Given the description of an element on the screen output the (x, y) to click on. 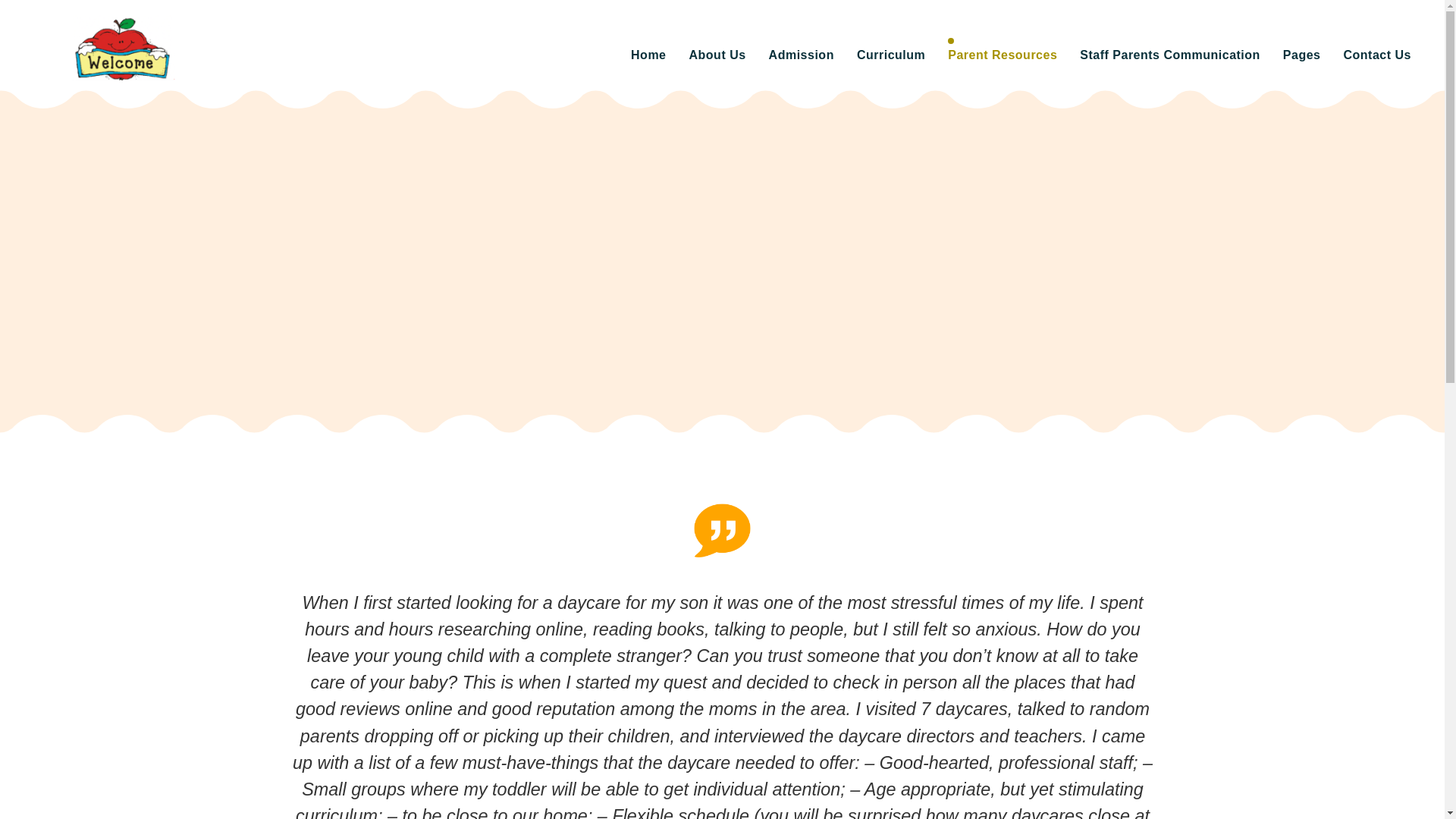
Admission (801, 54)
Parent Resources (1002, 54)
Contact Us (1377, 54)
Pages (1301, 54)
Staff Parents Communication (1169, 54)
About Us (717, 54)
Home (648, 54)
Curriculum (890, 54)
